Given the description of an element on the screen output the (x, y) to click on. 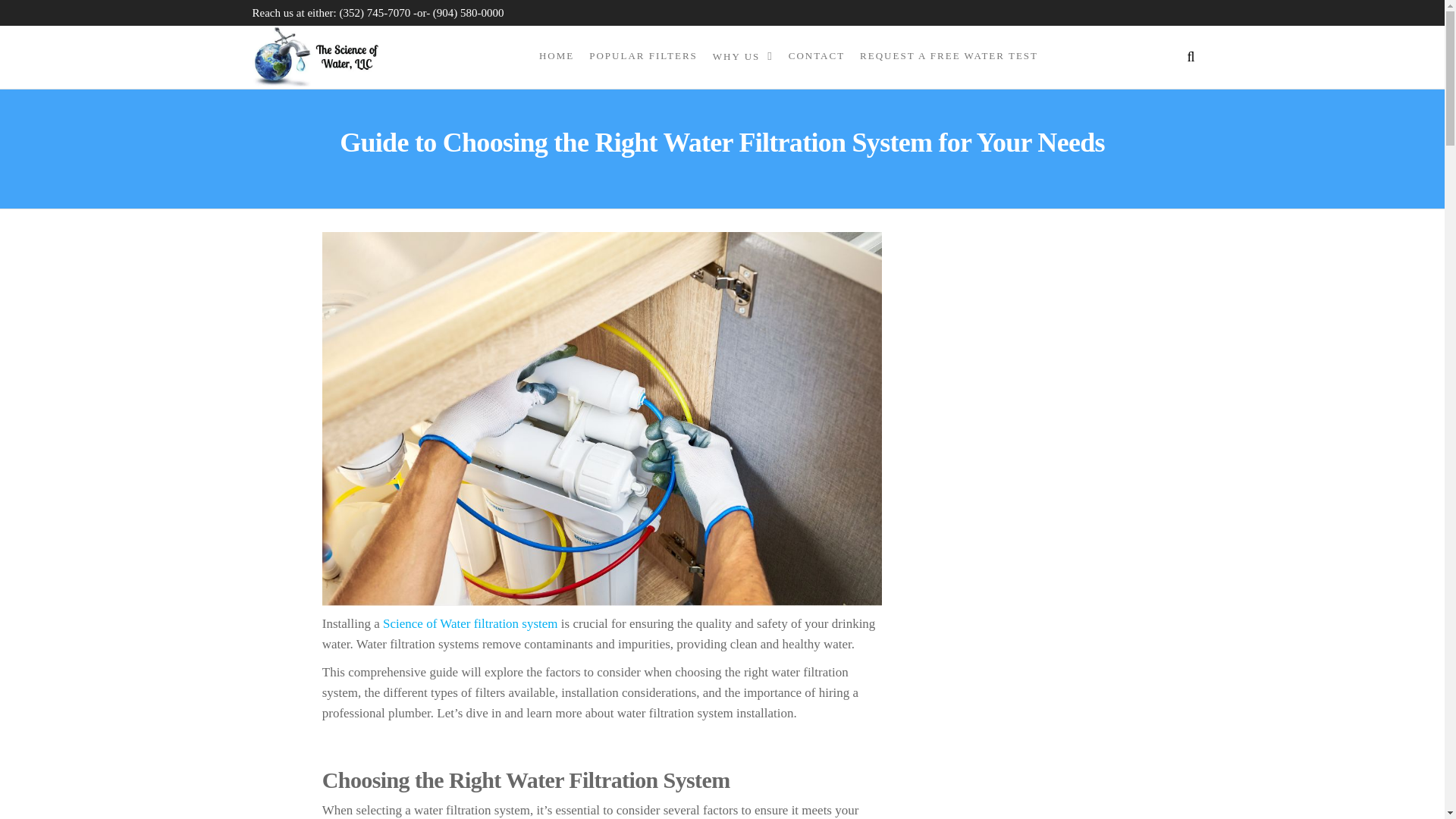
Science of Water filtration system (469, 623)
CONTACT (815, 55)
POPULAR FILTERS (642, 55)
Contact (815, 55)
REQUEST A FREE WATER TEST (948, 55)
Why Us (742, 55)
Popular Filters (642, 55)
WHY US (742, 55)
Request A Free Water Test (948, 55)
